Given the description of an element on the screen output the (x, y) to click on. 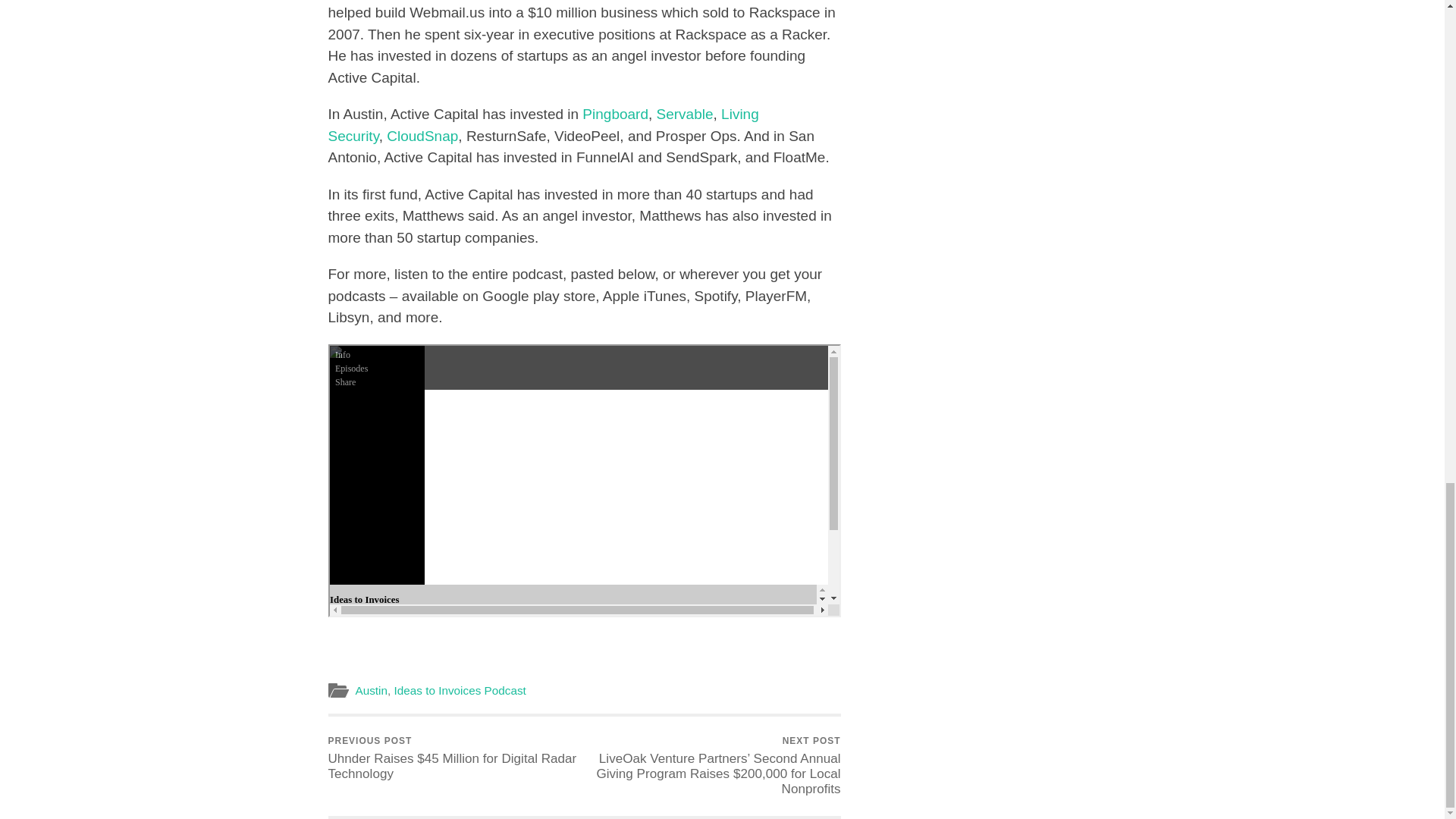
Ideas to Invoices Podcast (459, 689)
CloudSnap (422, 135)
Servable (684, 114)
Austin (371, 689)
Living Security (542, 125)
Pingboard (614, 114)
